Given the description of an element on the screen output the (x, y) to click on. 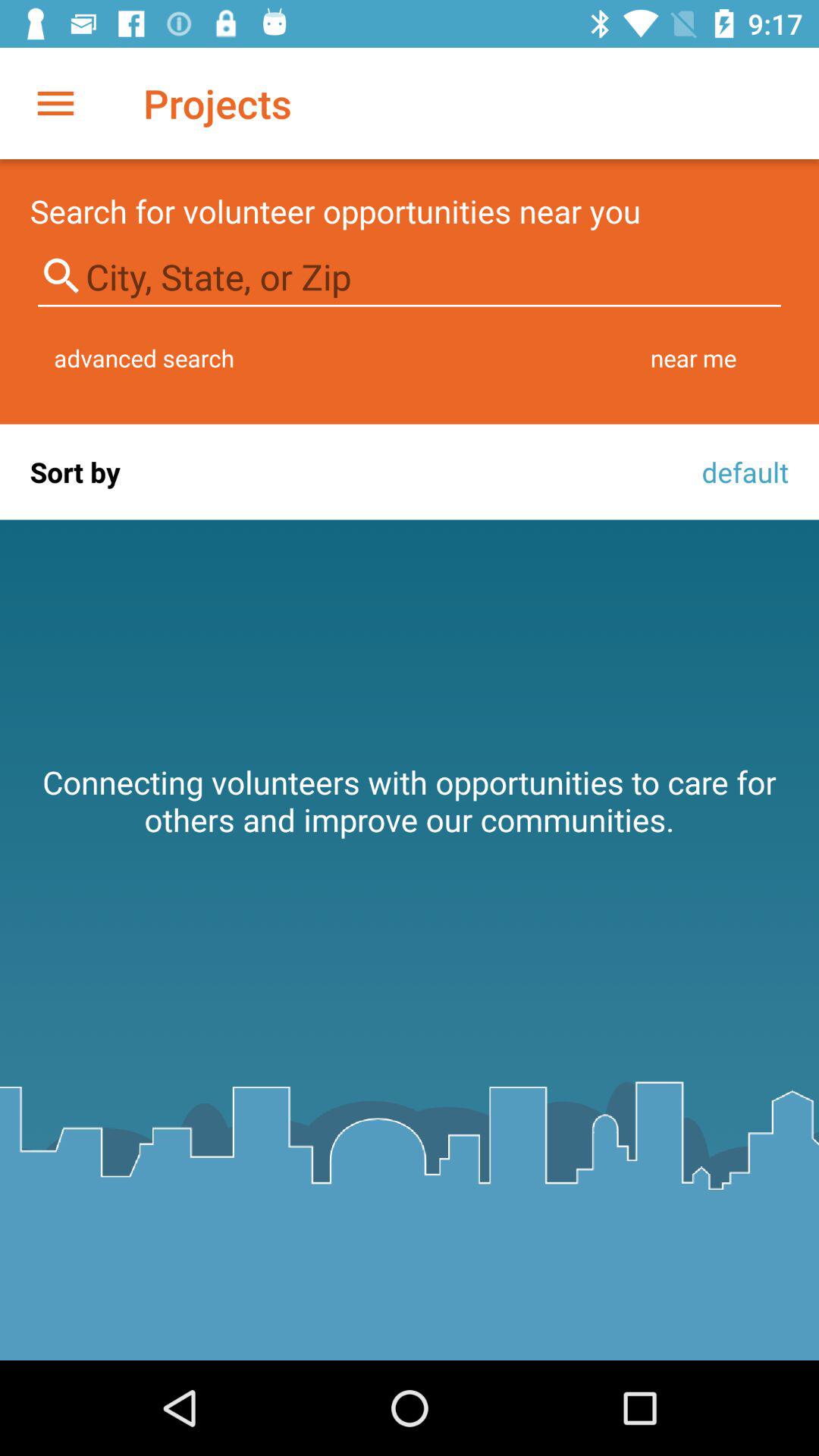
launch item to the left of near me icon (144, 358)
